Given the description of an element on the screen output the (x, y) to click on. 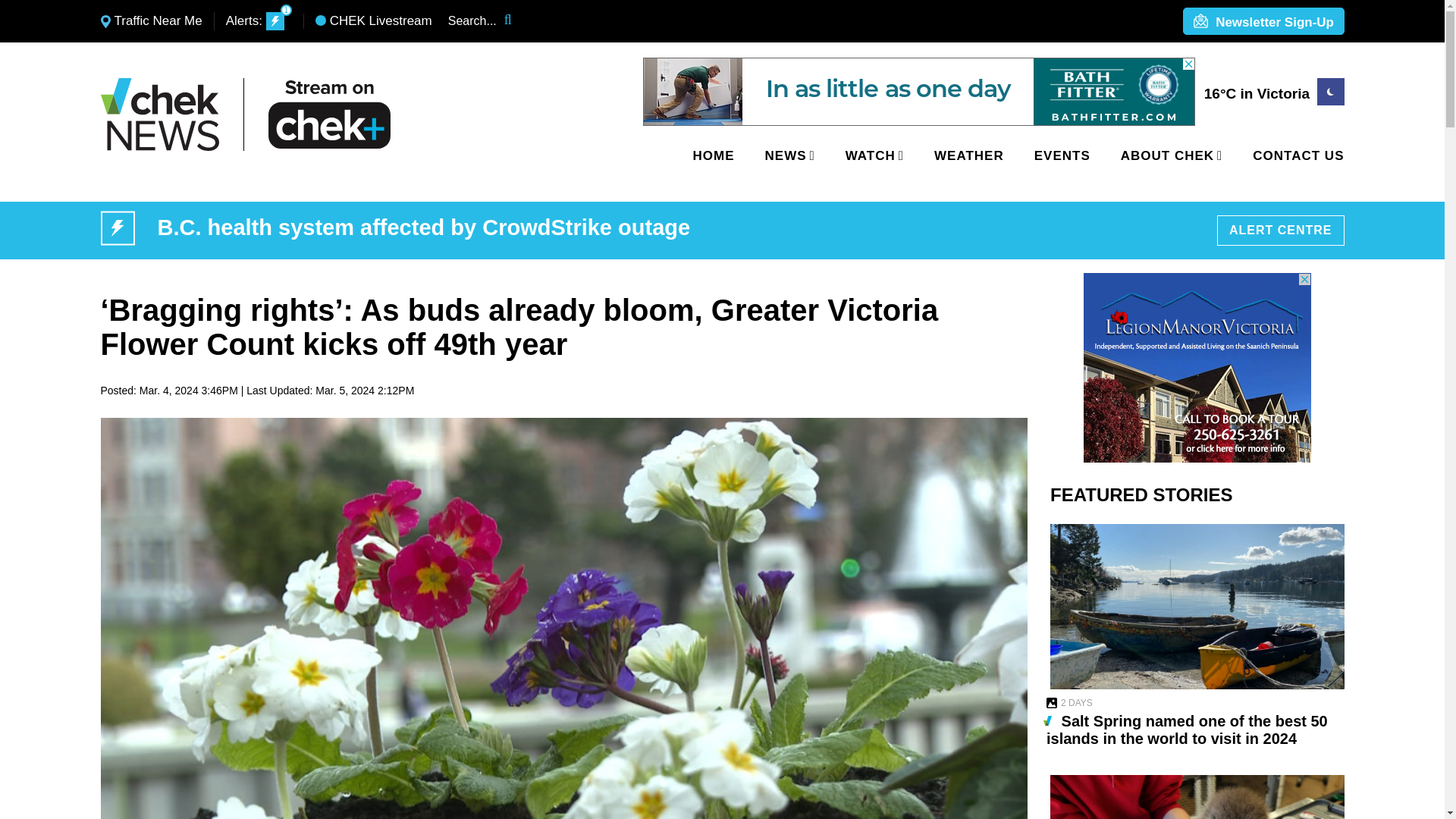
Search (518, 21)
Traffic Near Me (151, 20)
3rd party ad content (919, 91)
HOME (714, 155)
1 (274, 21)
NEWS (787, 155)
CHEK Livestream (373, 20)
3rd party ad content (1197, 367)
Newsletter Sign-Up (1262, 22)
